Given the description of an element on the screen output the (x, y) to click on. 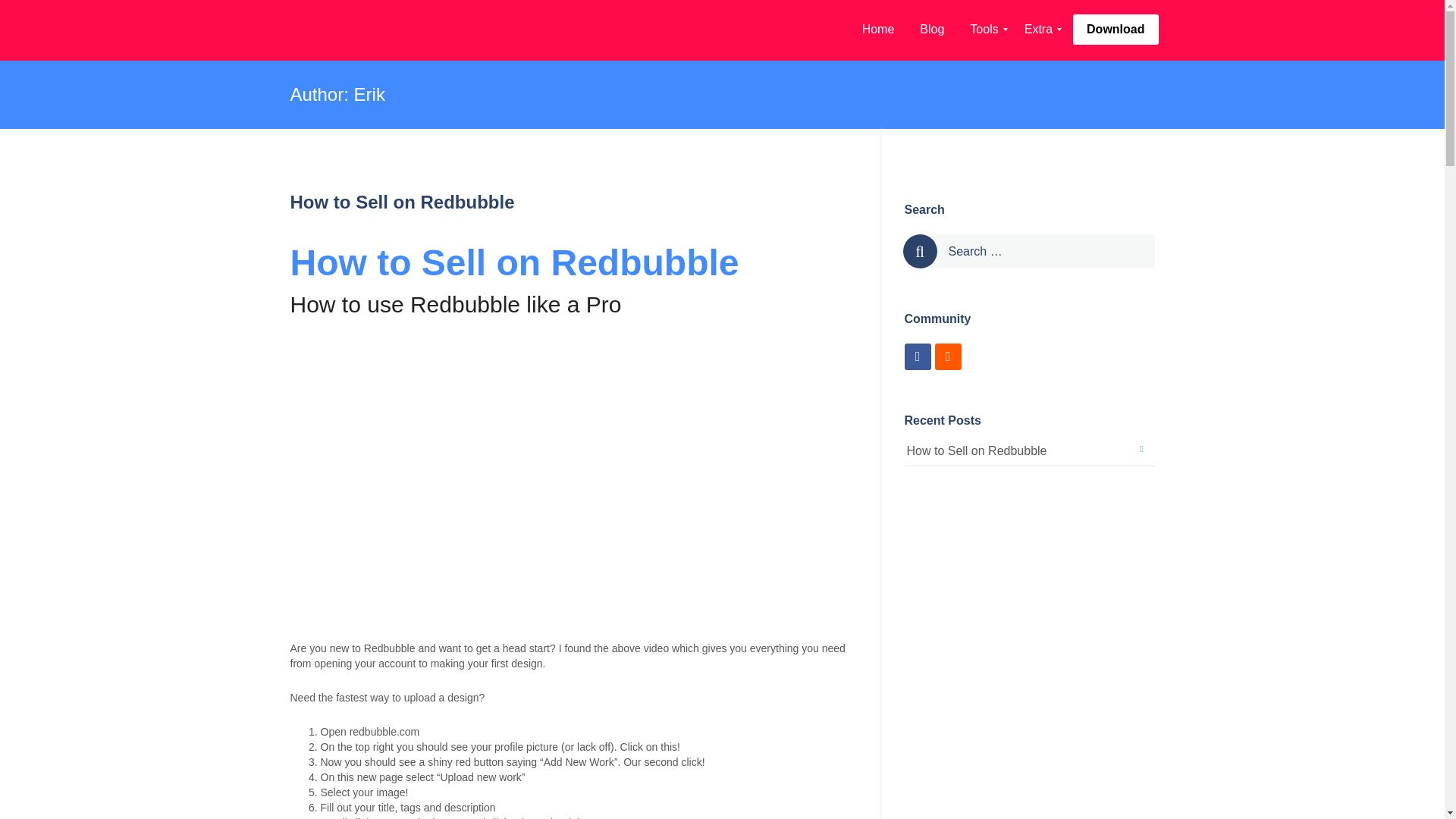
Download (1115, 36)
How to Sell on Redbubble (976, 451)
Extra (1038, 29)
Tools (983, 29)
Blog (931, 29)
How to Sell on Redbubble (401, 201)
Home (877, 29)
Download (1115, 29)
